Given the description of an element on the screen output the (x, y) to click on. 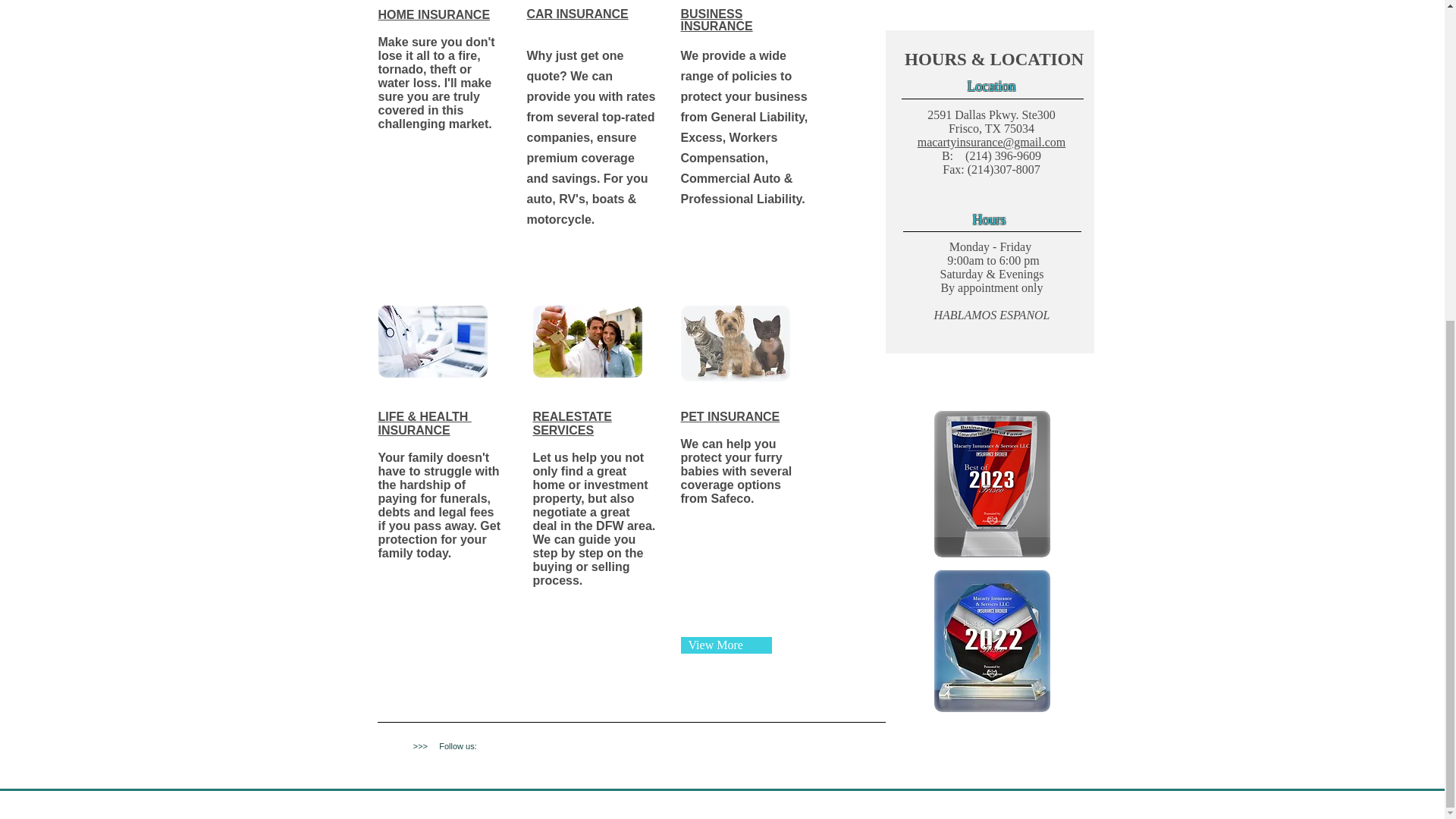
Pets (735, 342)
View More (726, 645)
AWARD (991, 640)
